Given the description of an element on the screen output the (x, y) to click on. 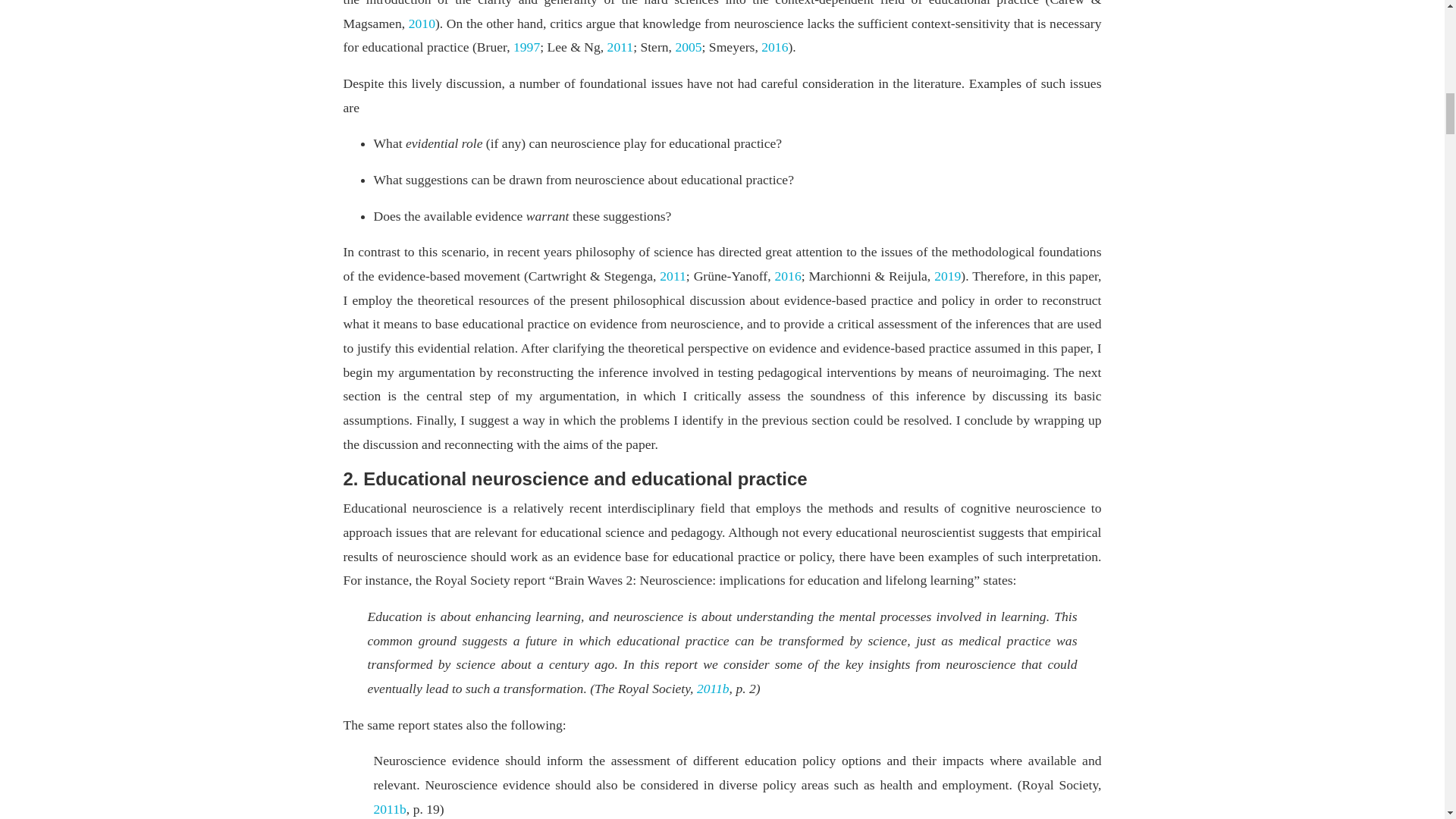
1997 (526, 46)
2010 (422, 23)
2011 (672, 275)
2011 (620, 46)
2011b (713, 688)
2011b (389, 808)
2019 (947, 275)
2005 (688, 46)
2016 (774, 46)
2016 (788, 275)
